Given the description of an element on the screen output the (x, y) to click on. 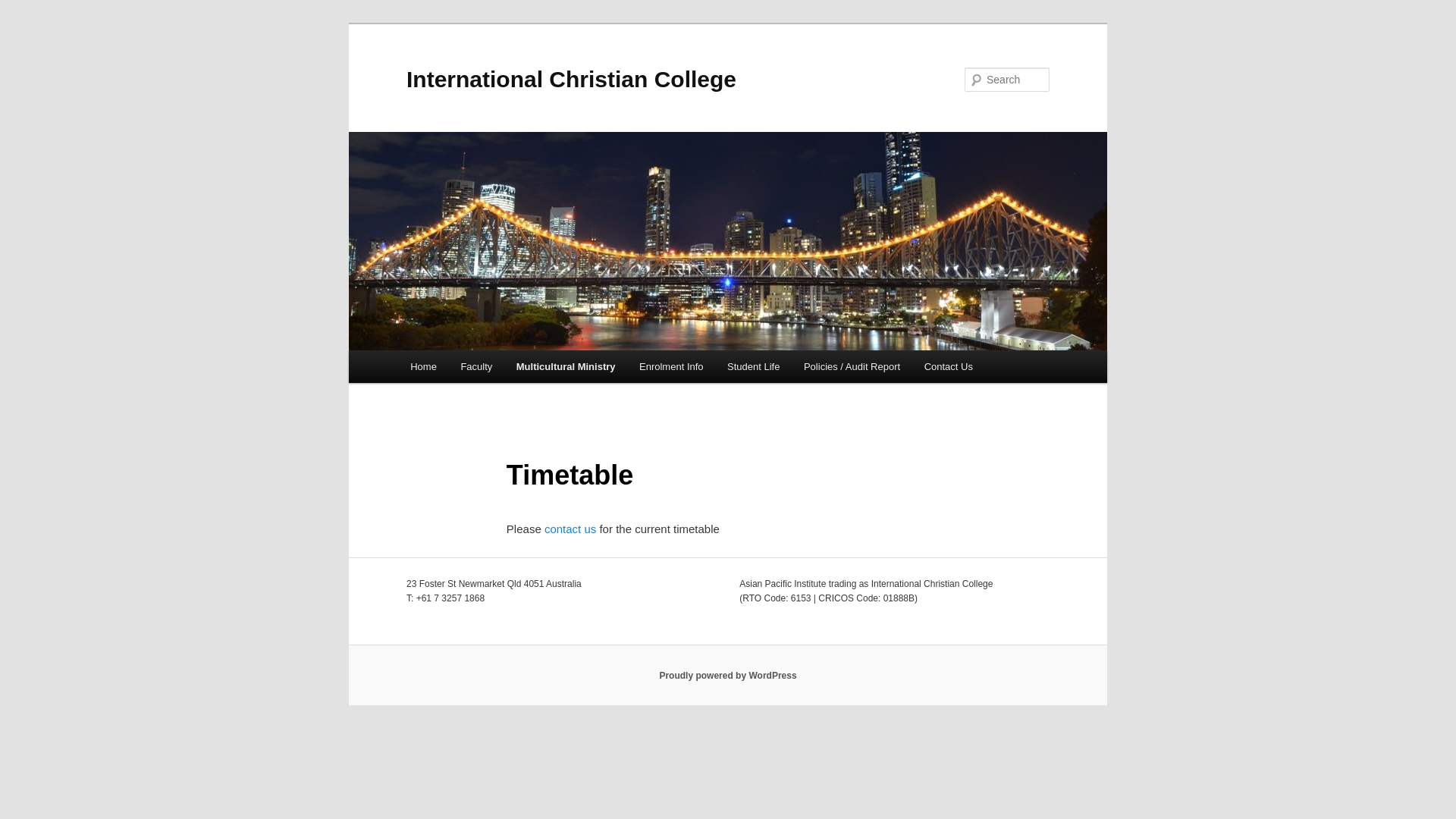
International Christian College Element type: text (571, 78)
Student Life Element type: text (753, 366)
Search Element type: text (24, 8)
Faculty Element type: text (476, 366)
Home Element type: text (423, 366)
Policies / Audit Report Element type: text (851, 366)
Proudly powered by WordPress Element type: text (727, 675)
Skip to primary content Element type: text (420, 350)
Contact Us Element type: text (948, 366)
Multicultural Ministry Element type: text (565, 366)
contact us Element type: text (571, 528)
Enrolment Info Element type: text (671, 366)
